Given the description of an element on the screen output the (x, y) to click on. 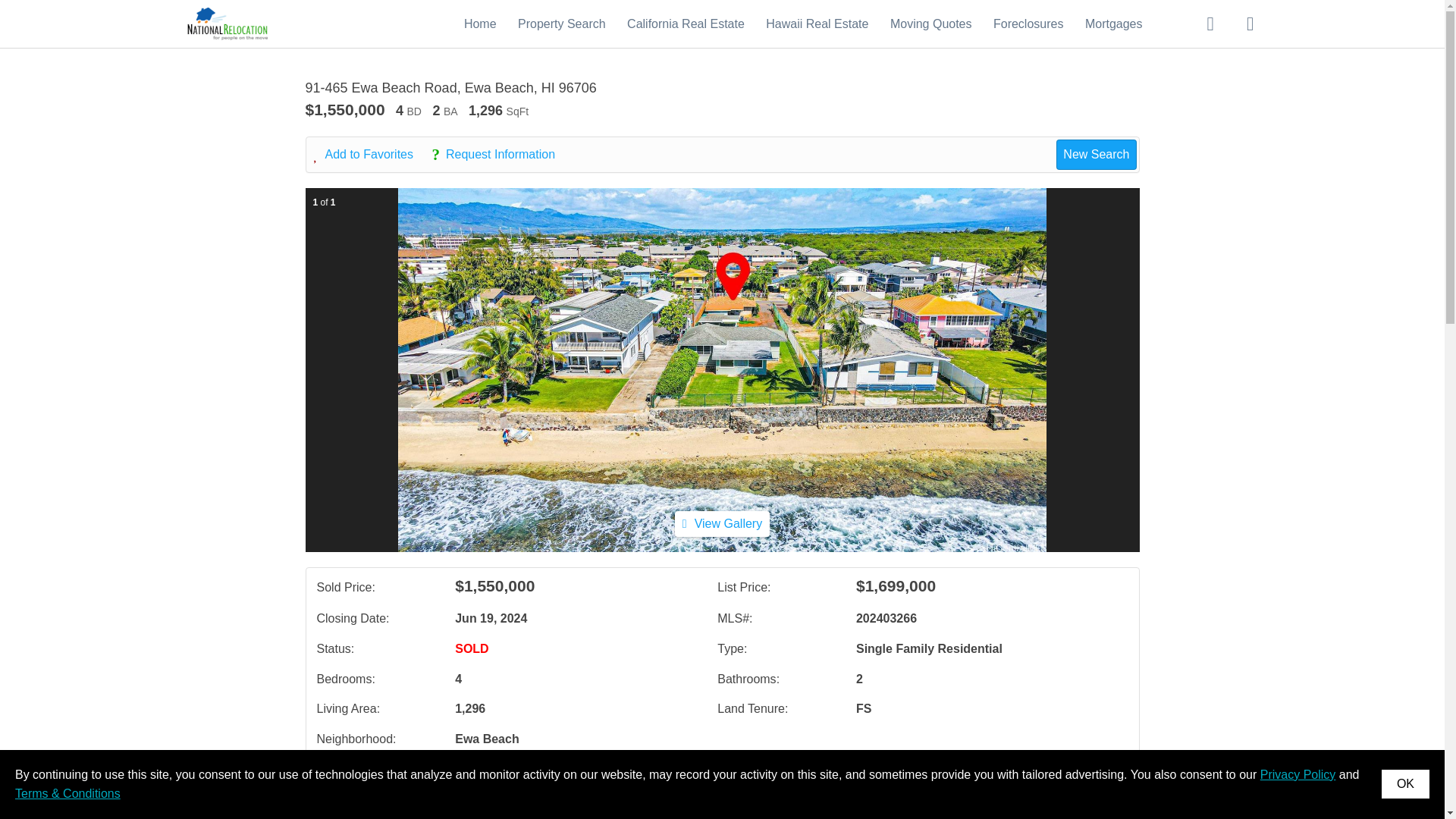
New Search (1096, 154)
Home (480, 23)
Property Search (561, 23)
California Real Estate (685, 23)
View Gallery (722, 524)
View on Map (452, 787)
Contact Us (357, 787)
Foreclosures (1027, 23)
Add to Favorites (371, 154)
Moving Quotes (930, 23)
